Given the description of an element on the screen output the (x, y) to click on. 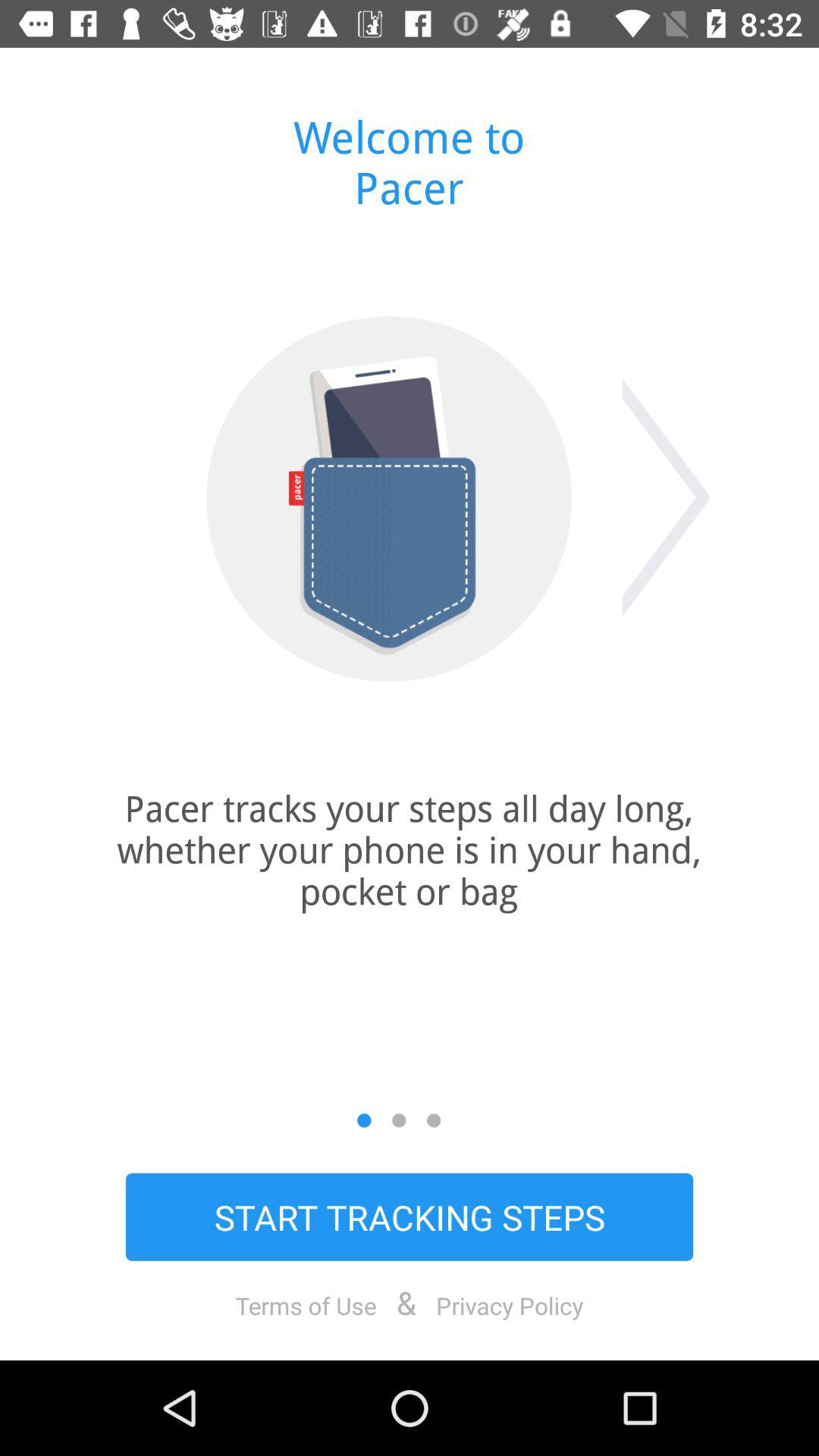
jump to privacy policy icon (509, 1305)
